Given the description of an element on the screen output the (x, y) to click on. 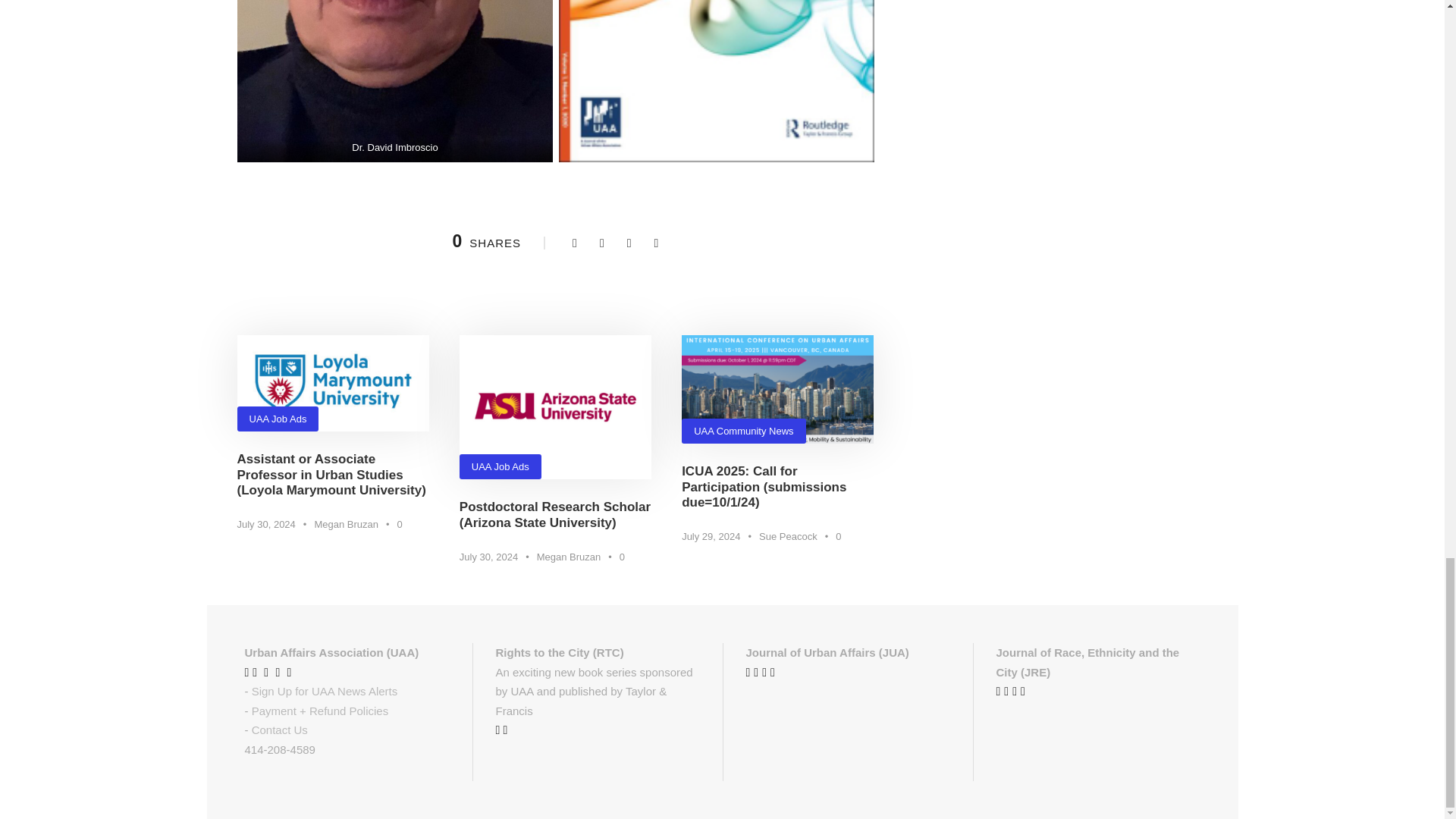
Posts by Megan Bruzan (346, 523)
Posts by Sue Peacock (787, 536)
Posts by Megan Bruzan (569, 556)
Arizona State University (555, 406)
Loyola Marymount University (331, 382)
